Given the description of an element on the screen output the (x, y) to click on. 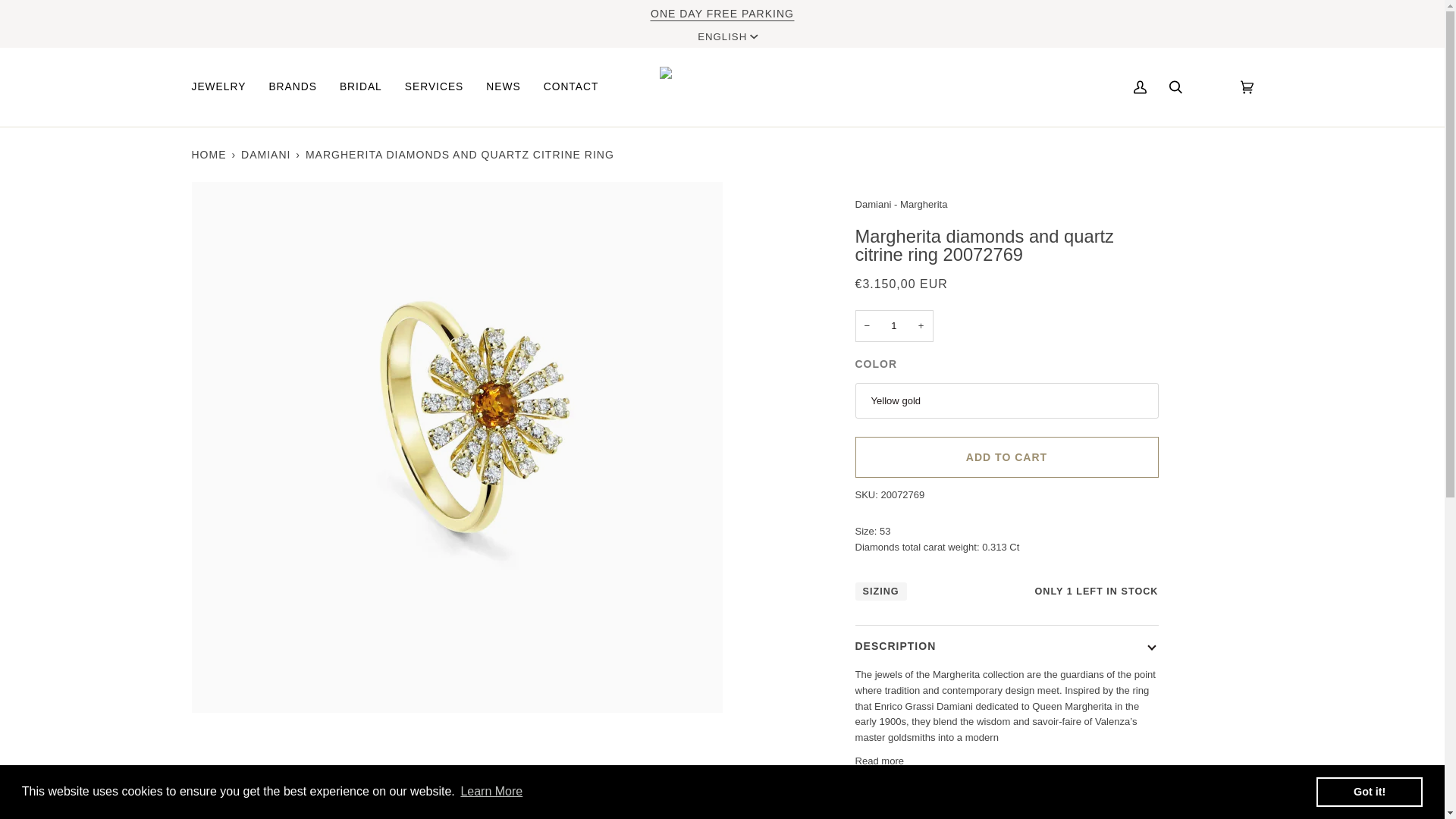
Book your private appointment (721, 13)
1 (894, 326)
Learn More (491, 791)
BRANDS (293, 87)
Got it! (1369, 791)
ONE DAY FREE PARKING (721, 13)
Back to the frontpage (208, 153)
ENGLISH (726, 37)
JEWELRY (223, 87)
